Given the description of an element on the screen output the (x, y) to click on. 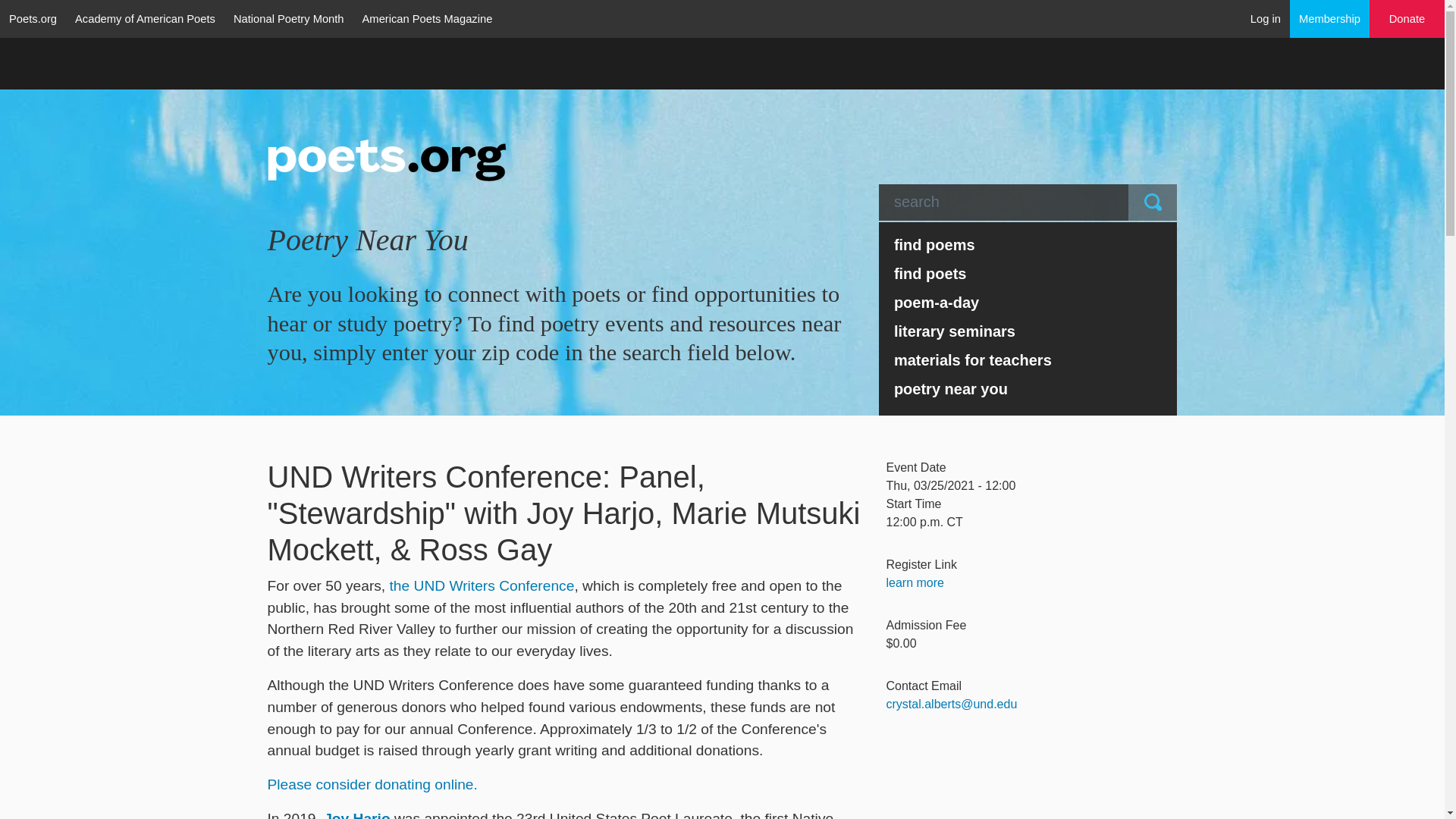
American Poets Magazine (427, 18)
find poets (1028, 273)
poetry near you (1028, 388)
Joy Harjo (356, 814)
materials for teachers (1028, 359)
Become a member of the Academy of American Poets (1330, 18)
poem-a-day (1028, 302)
the UND Writers Conference (482, 585)
Please consider donating online. (371, 784)
National Poetry Month (288, 18)
